Given the description of an element on the screen output the (x, y) to click on. 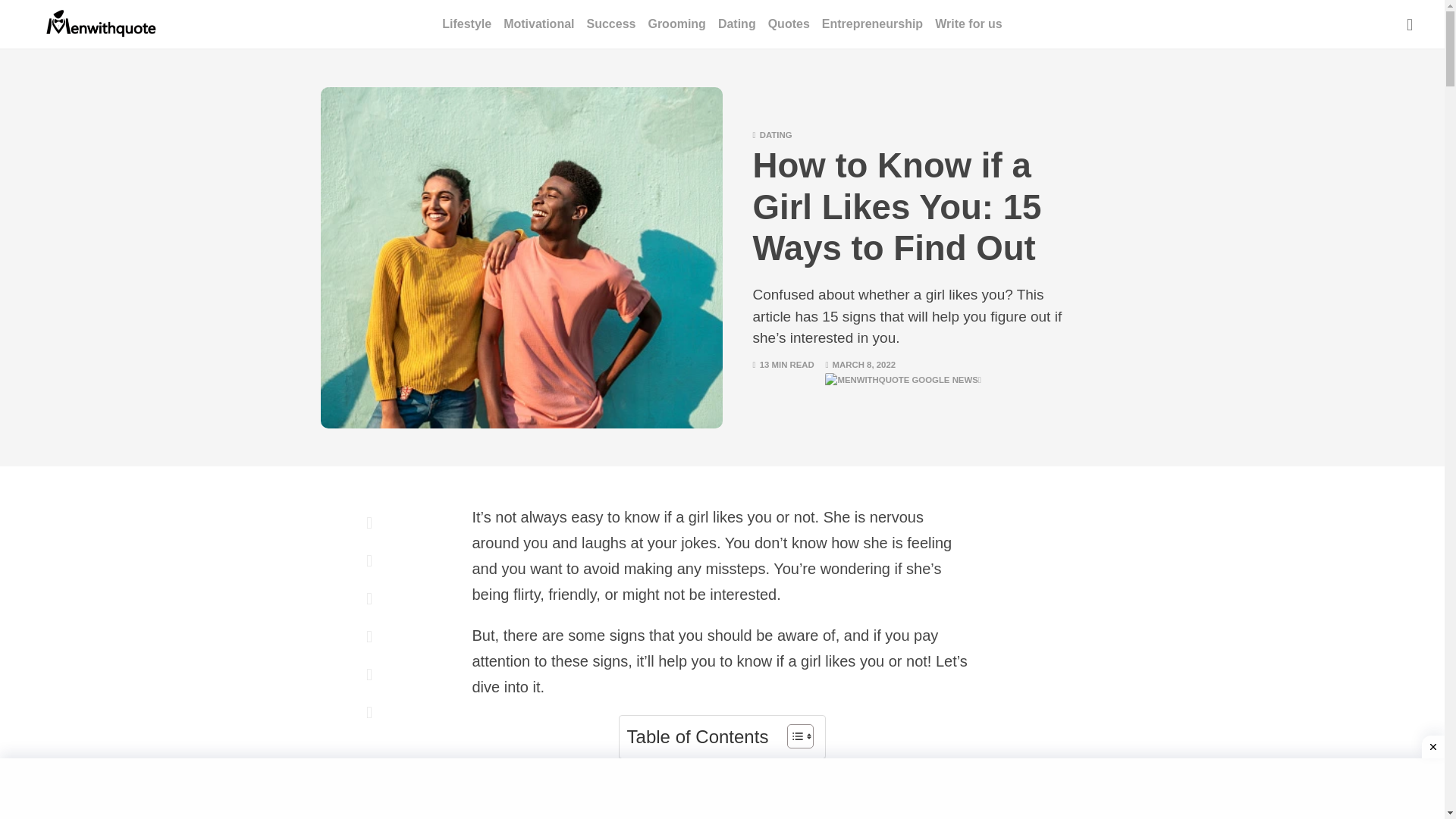
Motivational (538, 24)
Write for us (968, 24)
Entrepreneurship (872, 24)
DATING (776, 134)
Lifestyle (467, 24)
Success (611, 24)
Grooming (675, 24)
